Given the description of an element on the screen output the (x, y) to click on. 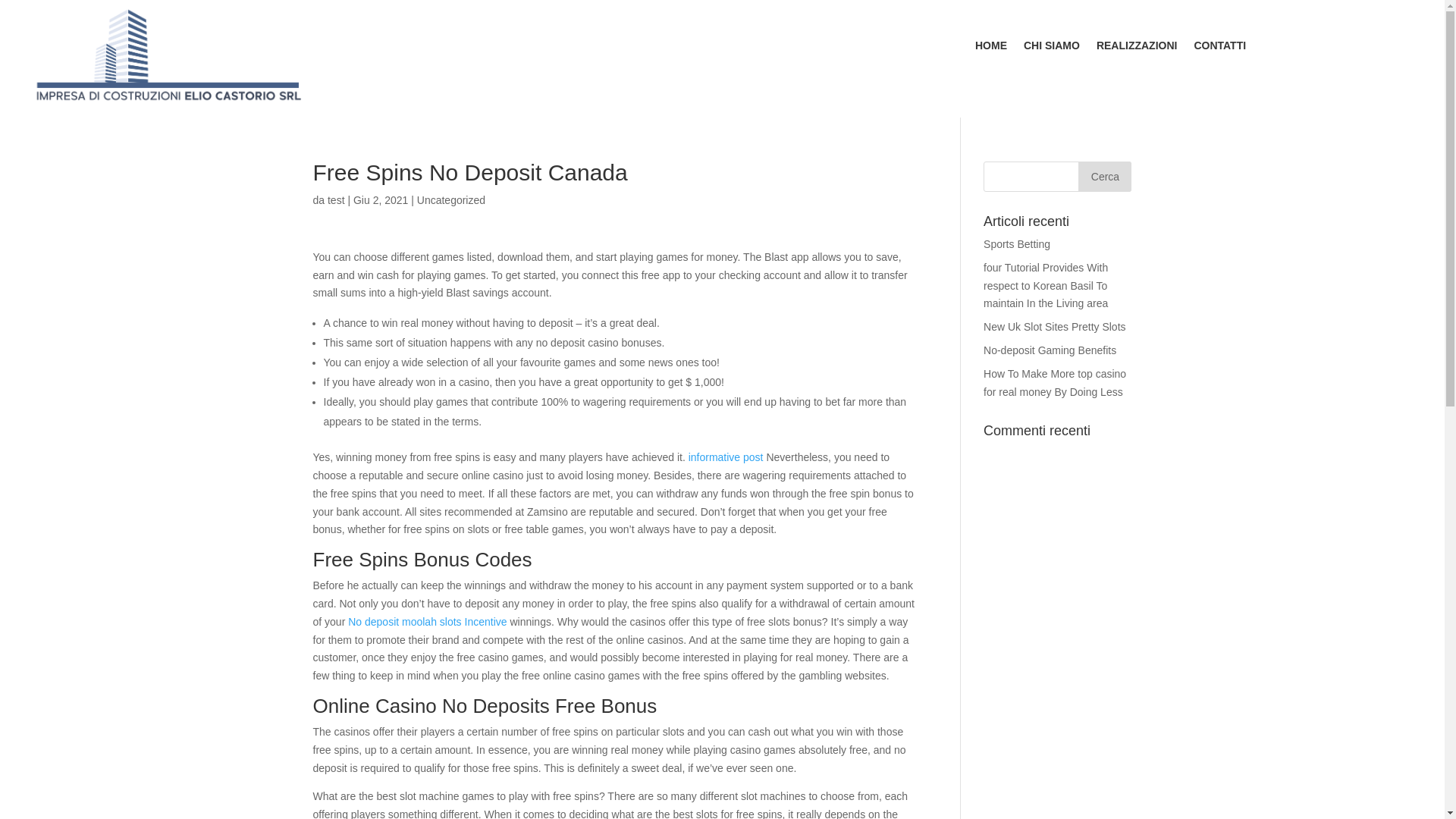
Post di test (336, 200)
No-deposit Gaming Benefits (1050, 349)
HOME (991, 48)
No deposit moolah slots Incentive (426, 621)
How To Make More top casino for real money By Doing Less (1054, 382)
Cerca (1104, 176)
test (336, 200)
CHI SIAMO (1051, 48)
Cerca (1104, 176)
